Given the description of an element on the screen output the (x, y) to click on. 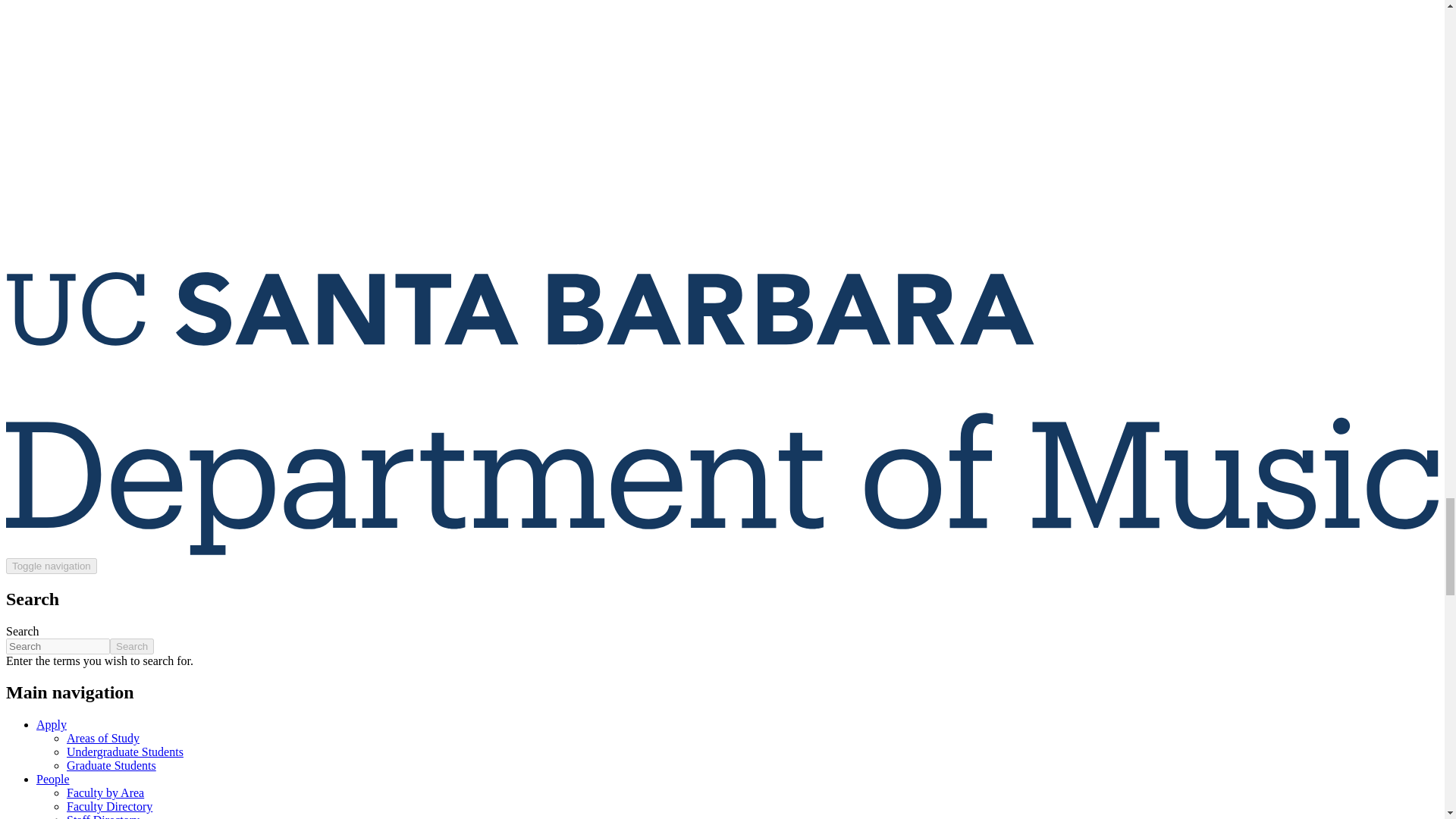
Graduate Students (110, 765)
Faculty by Area (105, 792)
Undergraduate Students (124, 751)
Music Department Interest Areas (102, 738)
Search (132, 646)
Enter the terms you wish to search for. (57, 646)
Staff Directory (102, 816)
Toggle navigation (51, 565)
Faculty Directory (109, 806)
Apply (51, 724)
People (52, 779)
Areas of Study (102, 738)
